Given the description of an element on the screen output the (x, y) to click on. 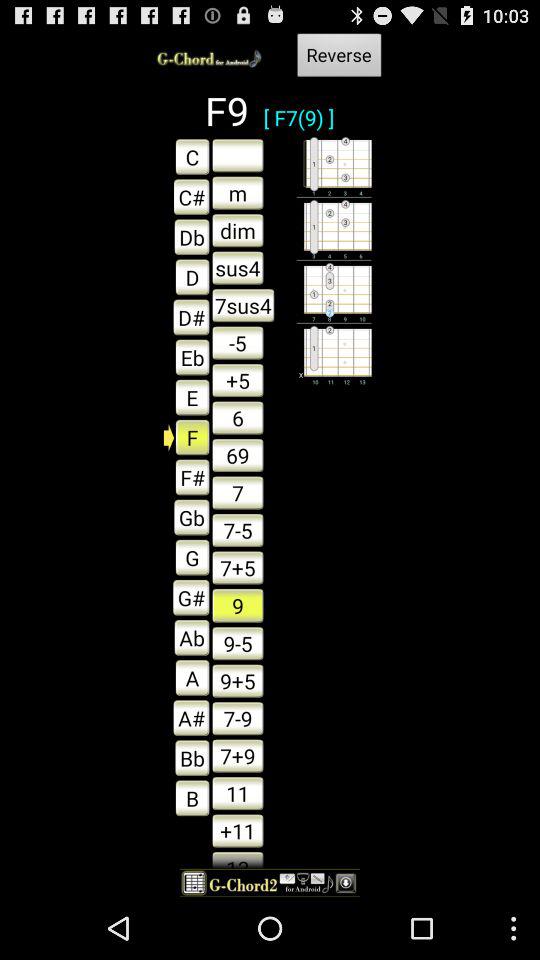
press the item below the sus4 button (243, 305)
